Given the description of an element on the screen output the (x, y) to click on. 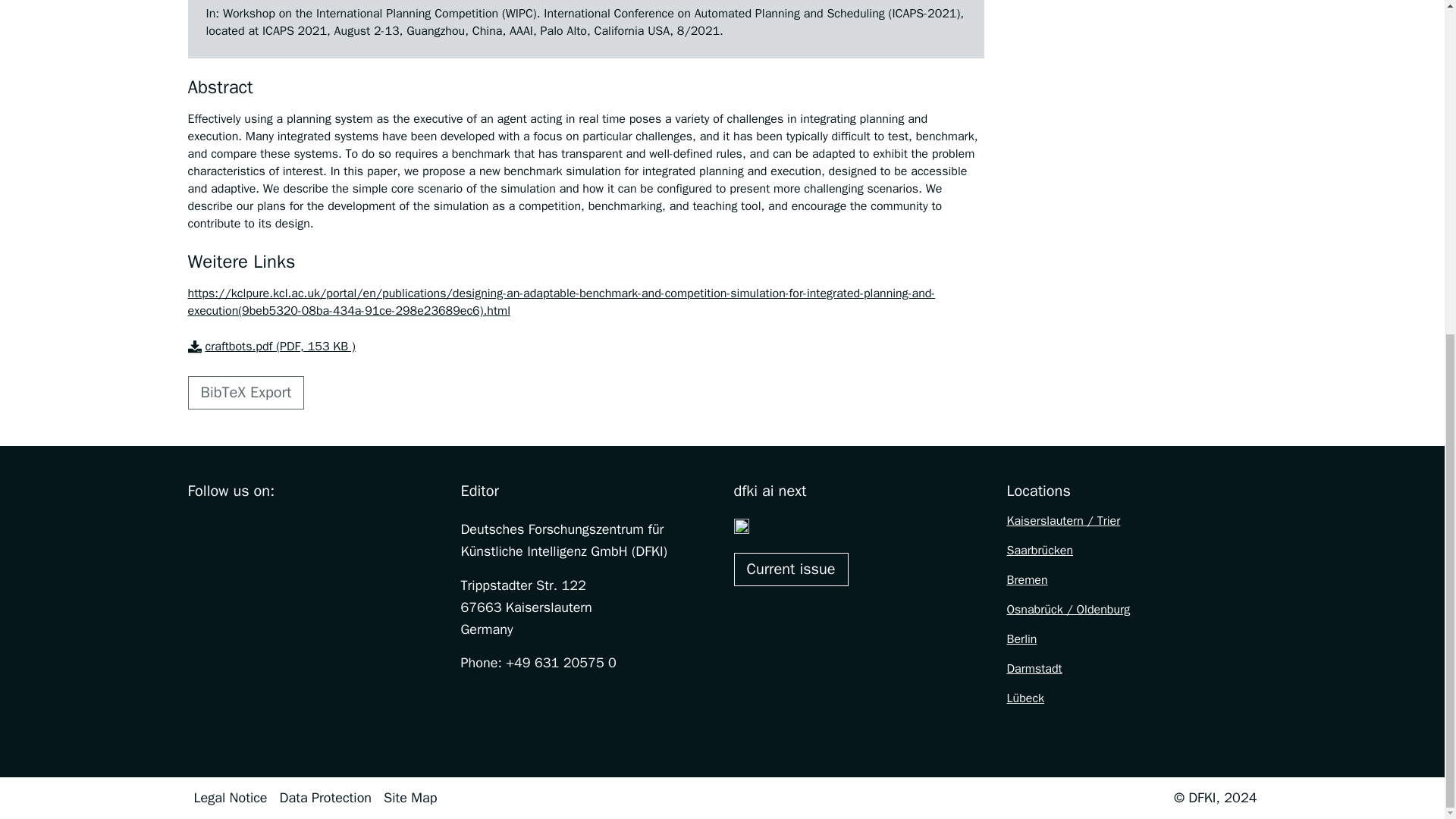
Follow us on: Instagram (229, 528)
To AI Magazine dfki ai next (790, 569)
Follow us on: LinkedIn (324, 528)
craftbots.pdf (271, 346)
Follow us on: Facebook (197, 528)
Follow us on: Youtube (292, 528)
Follow us on: X (260, 528)
